Given the description of an element on the screen output the (x, y) to click on. 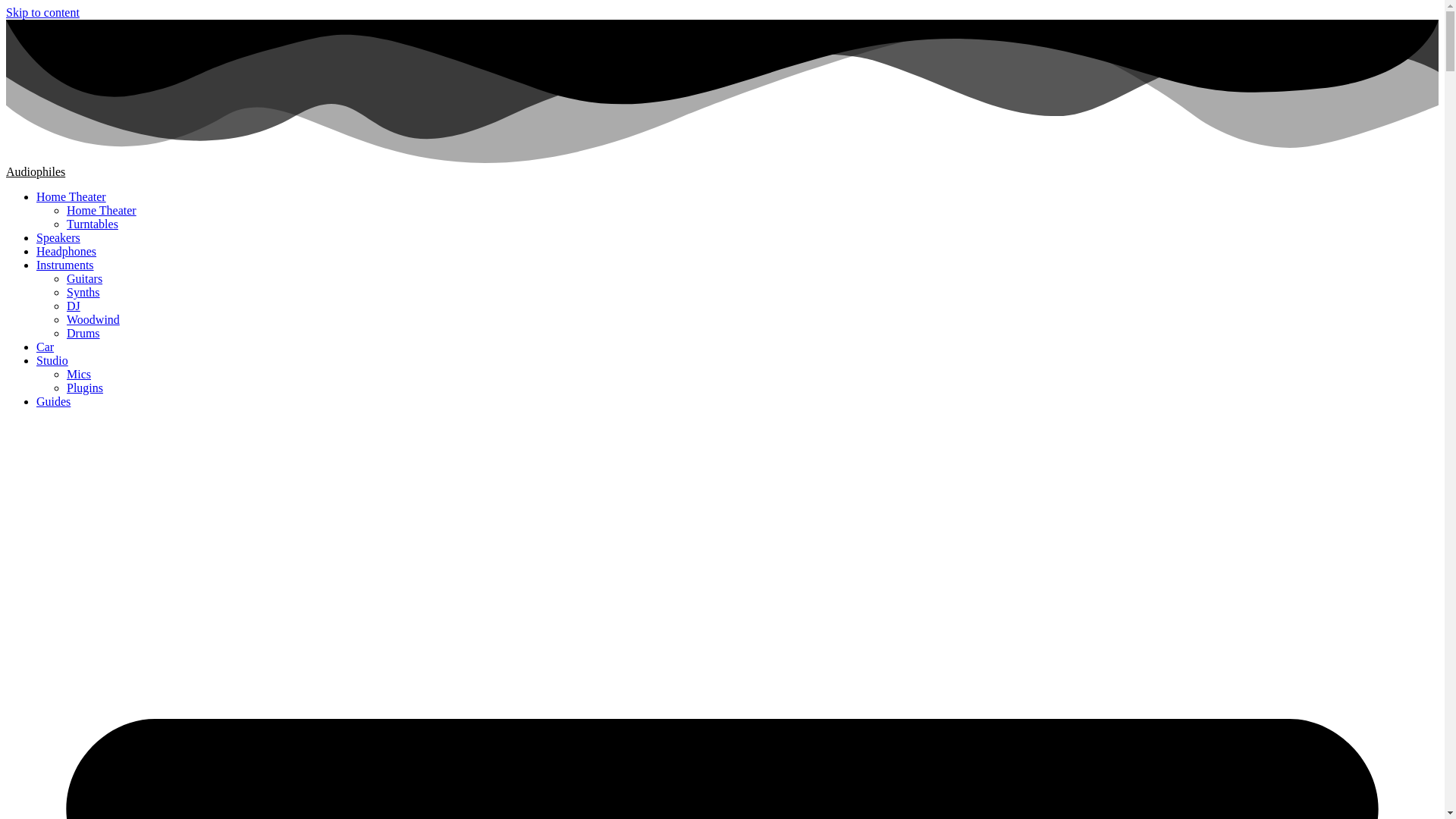
Home Theater (101, 210)
Audiophiles (35, 171)
Car (44, 346)
Mics (78, 373)
Woodwind (92, 318)
Synths (83, 291)
Skip to content (42, 11)
Home Theater (71, 196)
Headphones (66, 250)
Guitars (83, 278)
